Given the description of an element on the screen output the (x, y) to click on. 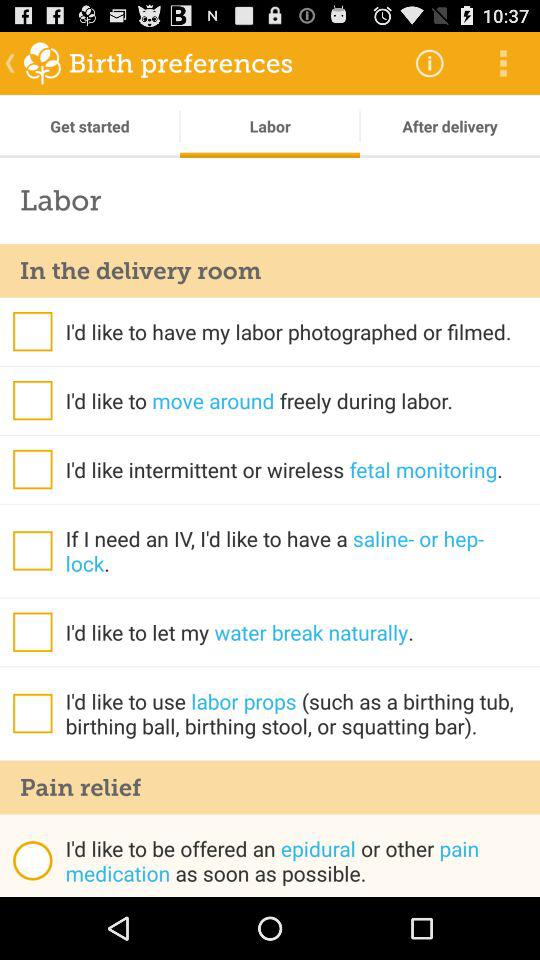
choose the icon to the right of the labor icon (450, 125)
